Given the description of an element on the screen output the (x, y) to click on. 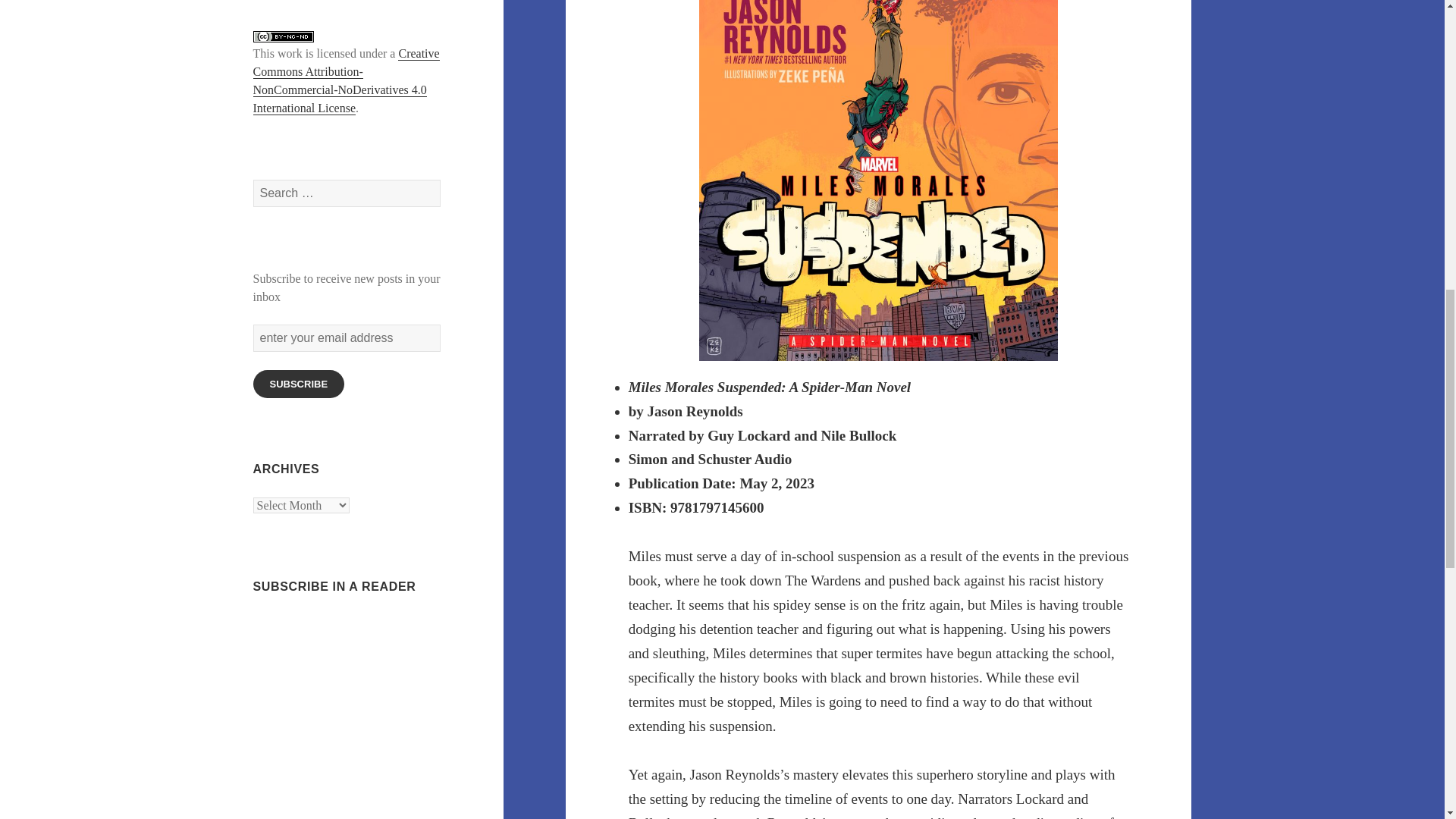
SUBSCRIBE (299, 384)
